Given the description of an element on the screen output the (x, y) to click on. 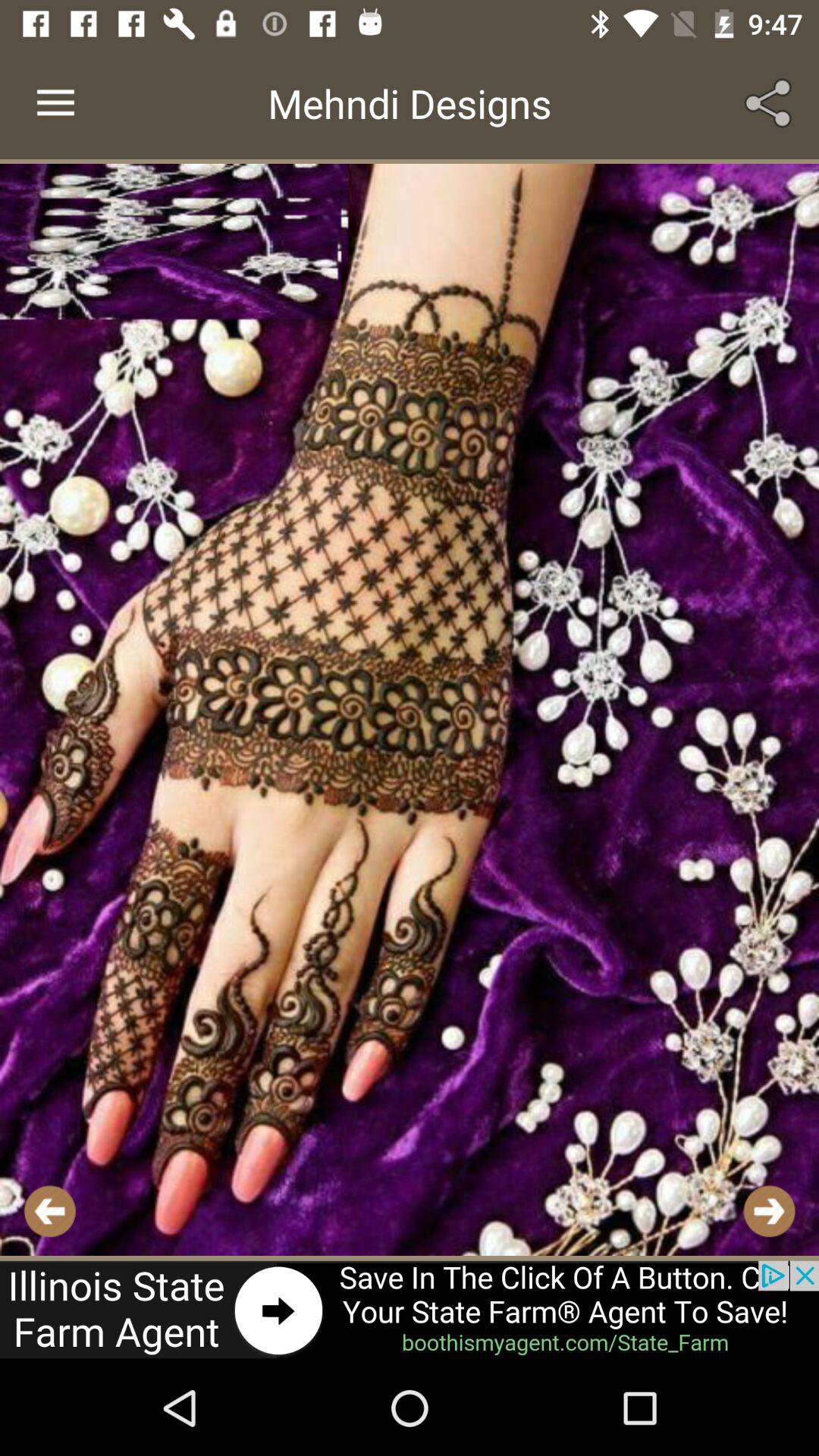
previous image (49, 1210)
